Given the description of an element on the screen output the (x, y) to click on. 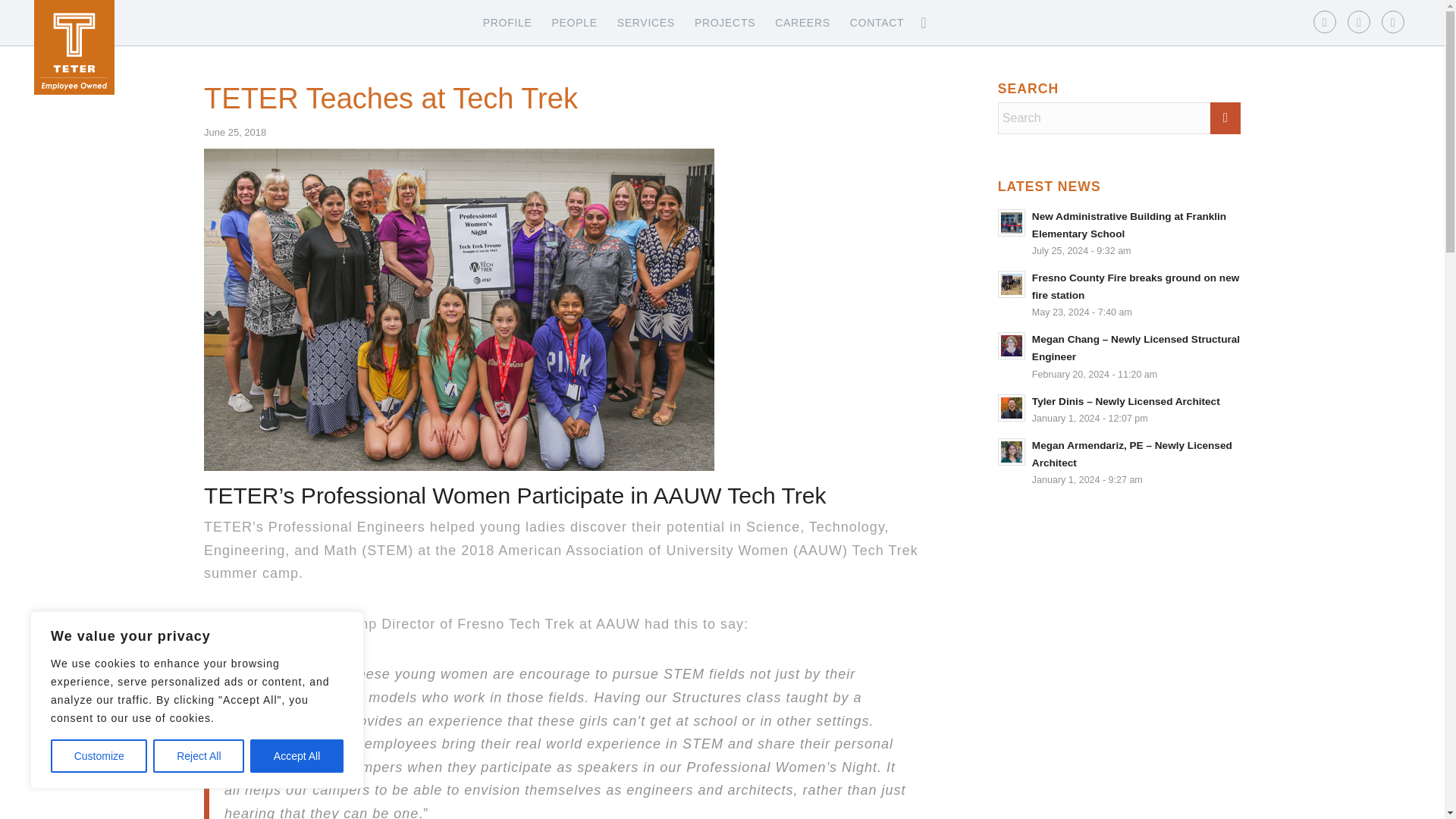
PROFILE (507, 22)
Instagram (1393, 21)
Customize (98, 756)
Read: Fresno County Fire breaks ground on new fire station (1135, 286)
Read: Fresno County Fire breaks ground on new fire station (1011, 284)
PROJECTS (724, 22)
CONTACT (877, 22)
New Administrative Building at Franklin Elementary School (1128, 224)
PEOPLE (574, 22)
CAREERS (802, 22)
Click to start search (1224, 118)
Facebook (1324, 21)
LinkedIn (1359, 21)
Fresno County Fire breaks ground on new fire station (1135, 286)
